Given the description of an element on the screen output the (x, y) to click on. 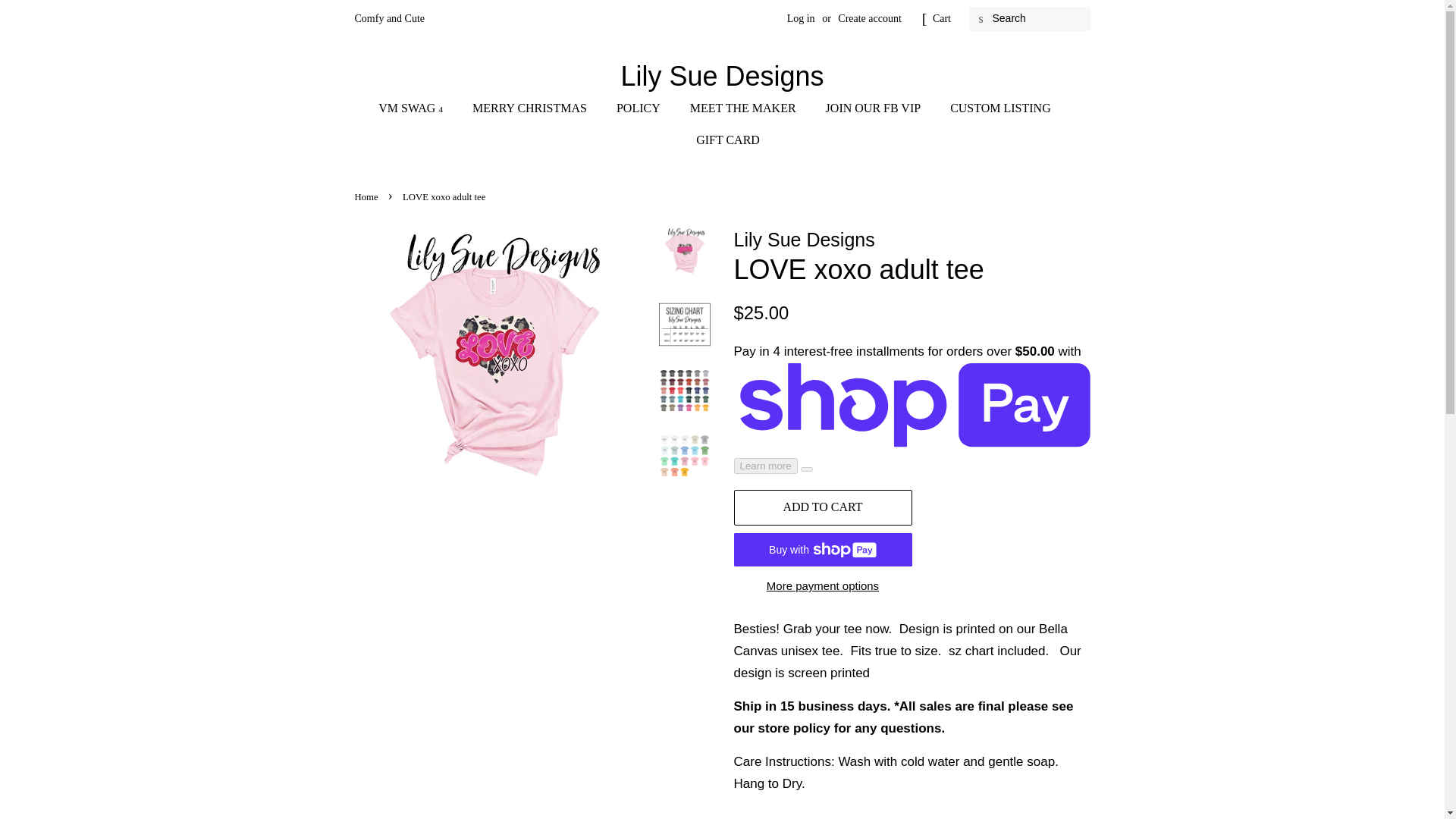
MEET THE MAKER (744, 107)
More payment options (822, 585)
MERRY CHRISTMAS (531, 107)
Create account (869, 18)
Cart (941, 18)
GIFT CARD (722, 139)
VM SWAG (418, 107)
Home (368, 196)
JOIN OUR FB VIP (874, 107)
CUSTOM LISTING (1002, 107)
Back to the frontpage (368, 196)
Lily Sue Designs (722, 75)
ADD TO CART (822, 507)
Log in (801, 18)
POLICY (640, 107)
